Given the description of an element on the screen output the (x, y) to click on. 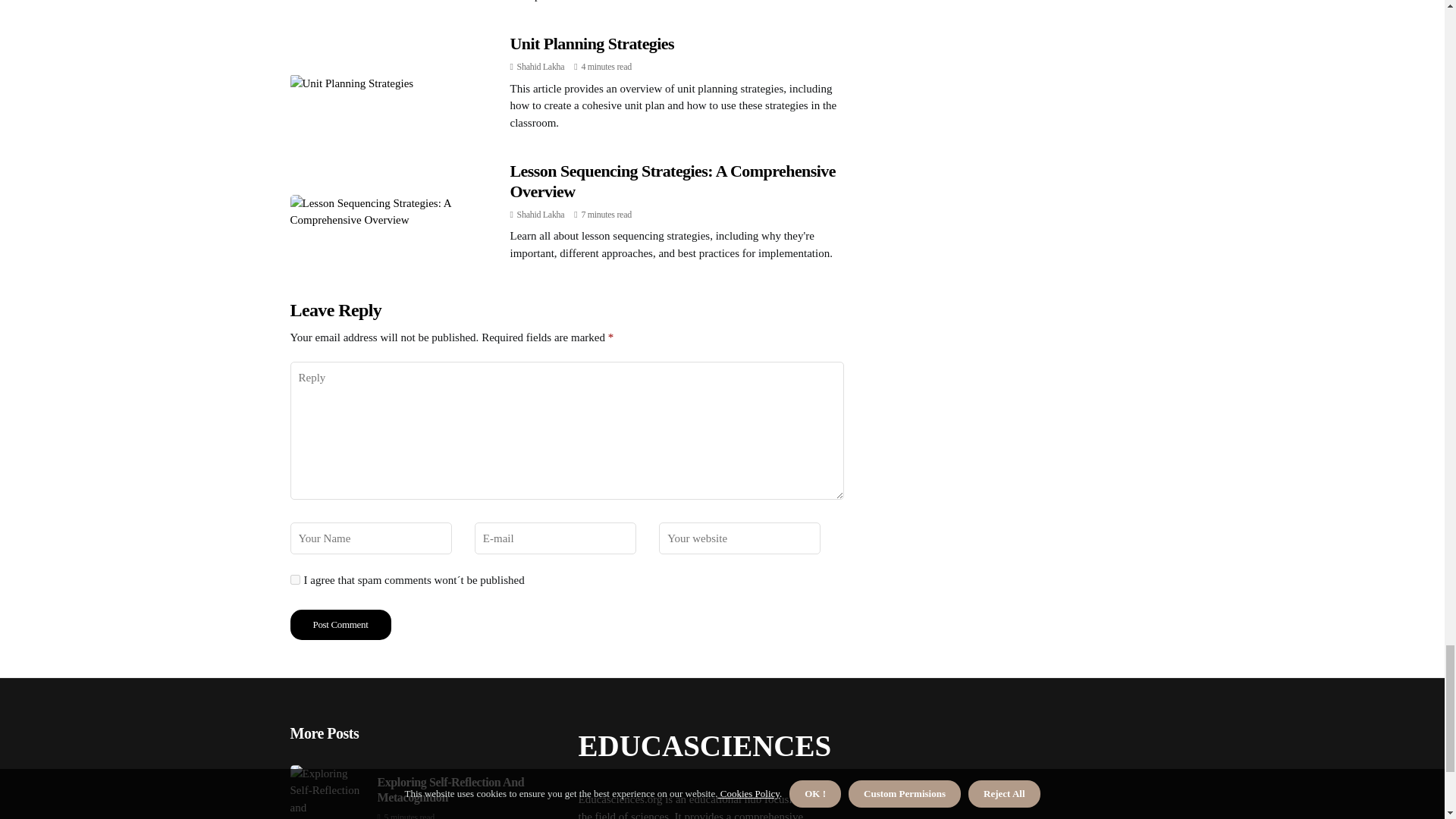
Posts by Shahid Lakha (540, 214)
Posts by Shahid Lakha (540, 66)
yes (294, 579)
Post Comment (339, 624)
